Given the description of an element on the screen output the (x, y) to click on. 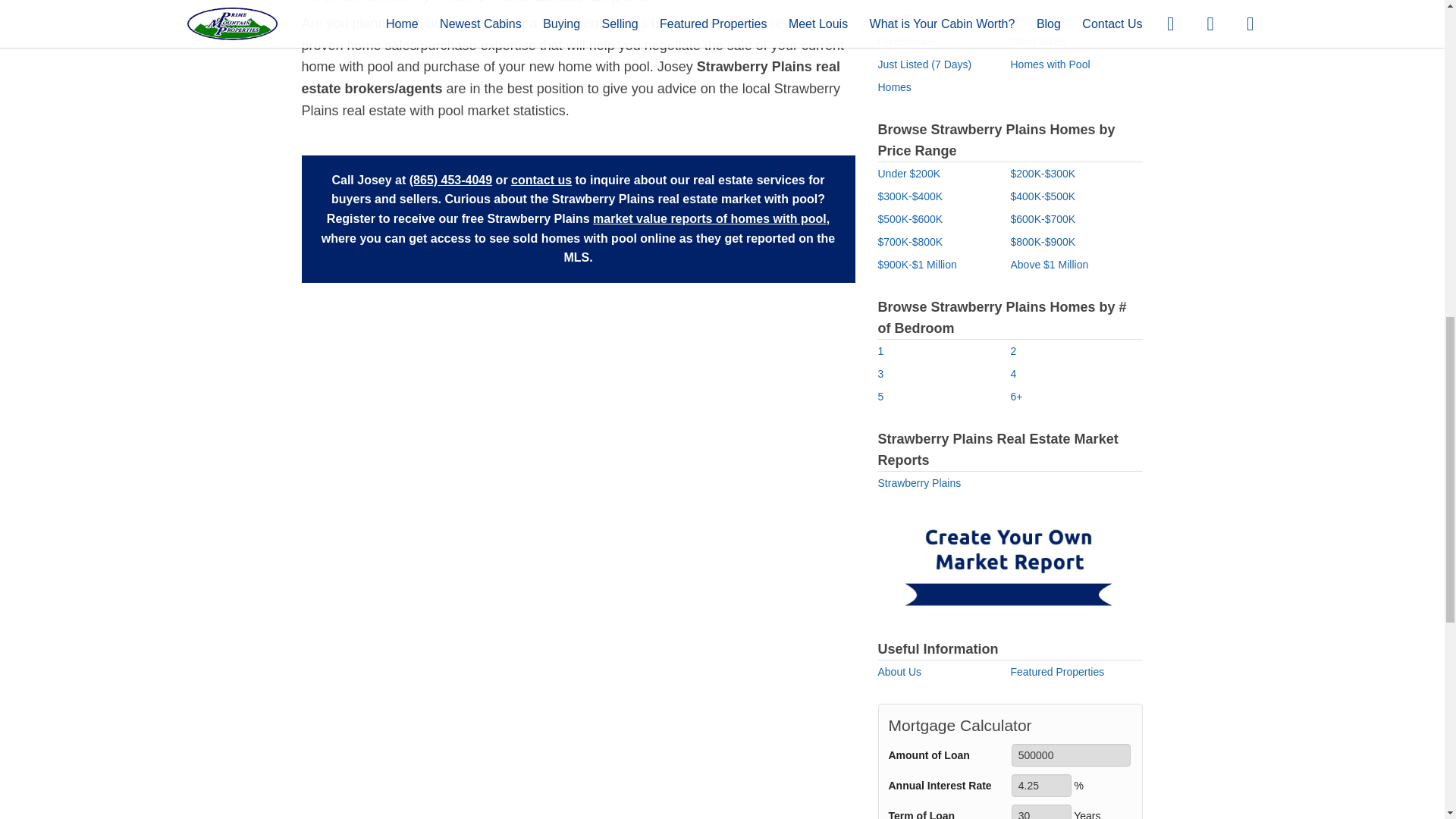
Manufactured Homes (1061, 1)
4.25 (1041, 784)
Contact Strawberry Plains TN Real Estate Experts (541, 179)
contact us (541, 179)
Short Sales (1037, 41)
Foreclosures (908, 41)
market value reports of homes with pool (709, 218)
Multi-Family (905, 19)
Historical Homes (1050, 19)
Strawberry Plains TN Market Value Reports of Homes with Pool (709, 218)
30 (1041, 811)
500000 (1071, 754)
Land (889, 1)
